Given the description of an element on the screen output the (x, y) to click on. 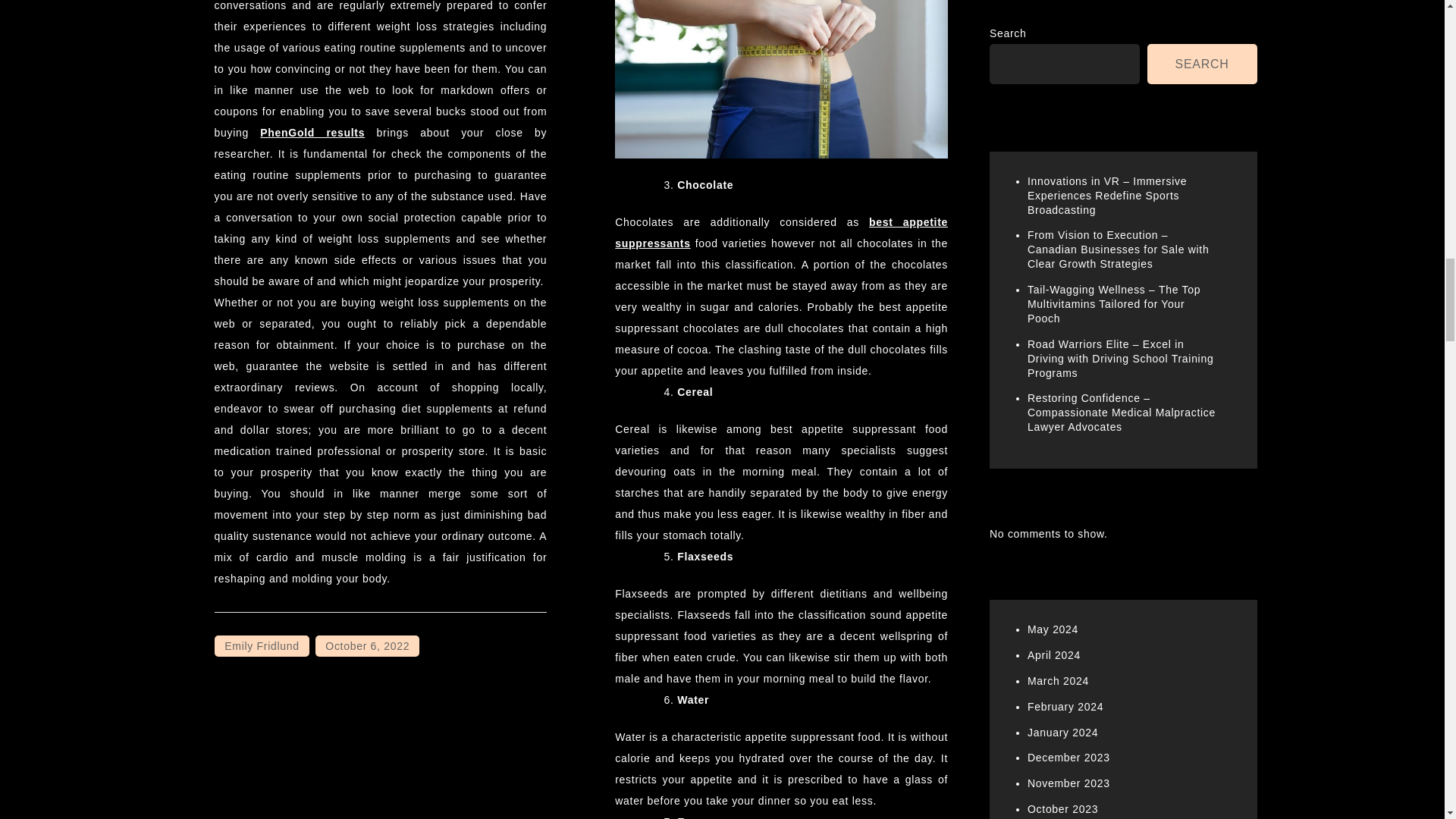
October 6, 2022 (367, 645)
best appetite suppressants (780, 231)
PhenGold results (312, 132)
Emily Fridlund (261, 645)
